Given the description of an element on the screen output the (x, y) to click on. 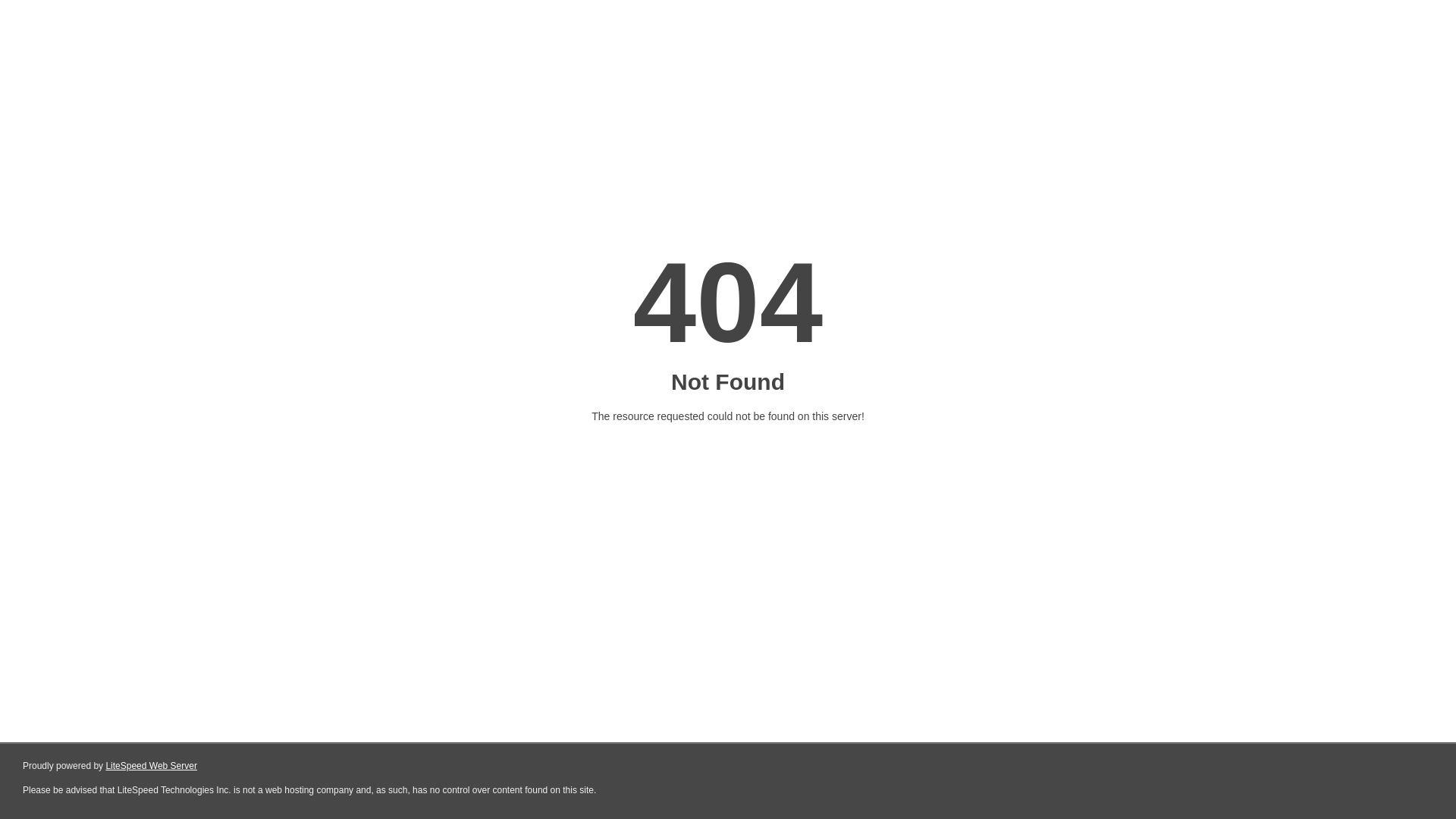
LiteSpeed Web Server Element type: text (151, 765)
